Given the description of an element on the screen output the (x, y) to click on. 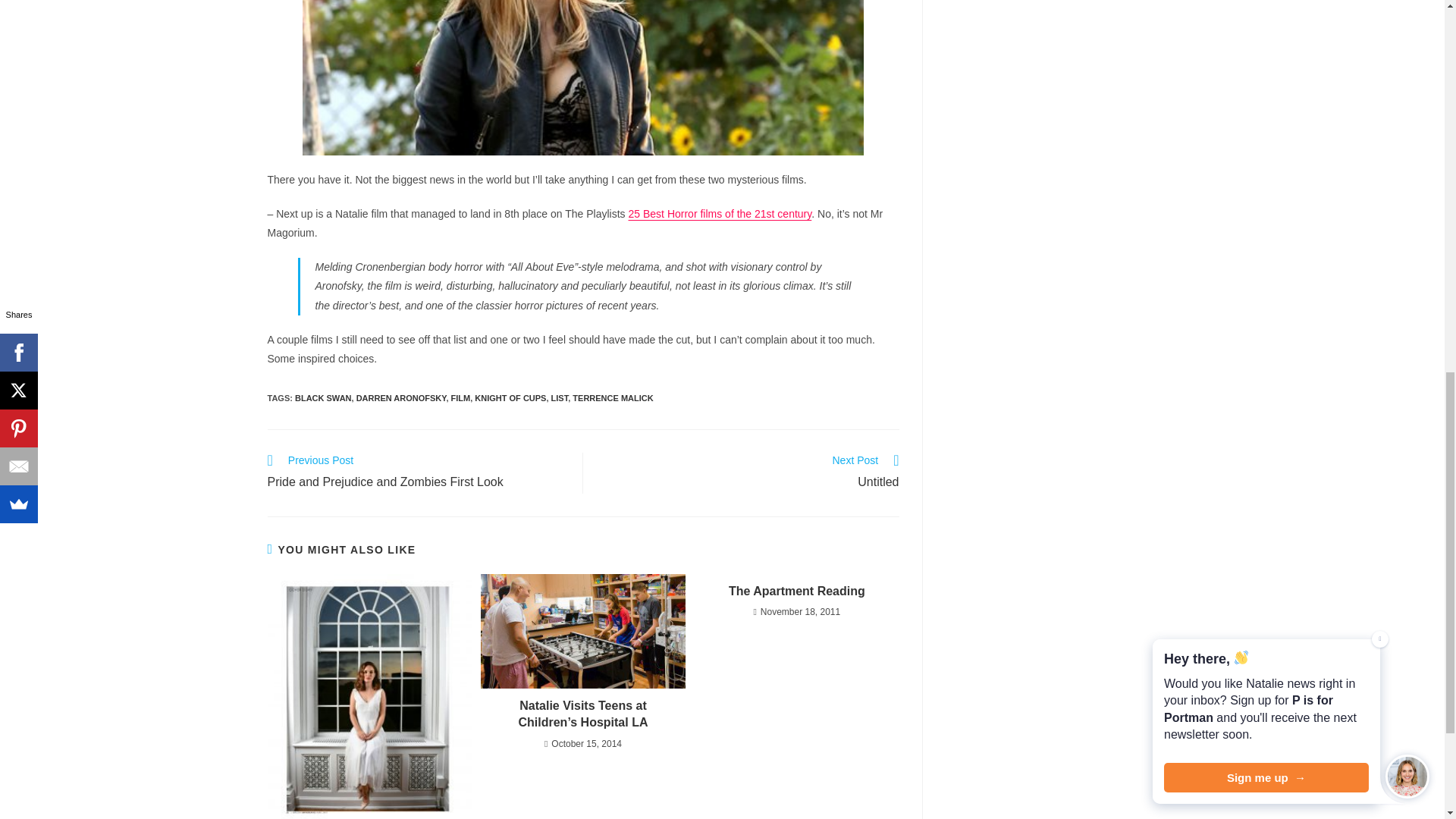
FILM (460, 397)
LIST (416, 472)
DARREN ARONOFSKY (560, 397)
25 Best Horror films of the 21st century (401, 397)
The Apartment Reading (720, 214)
KNIGHT OF CUPS (796, 591)
BLACK SWAN (510, 397)
TERRENCE MALICK (323, 397)
